Given the description of an element on the screen output the (x, y) to click on. 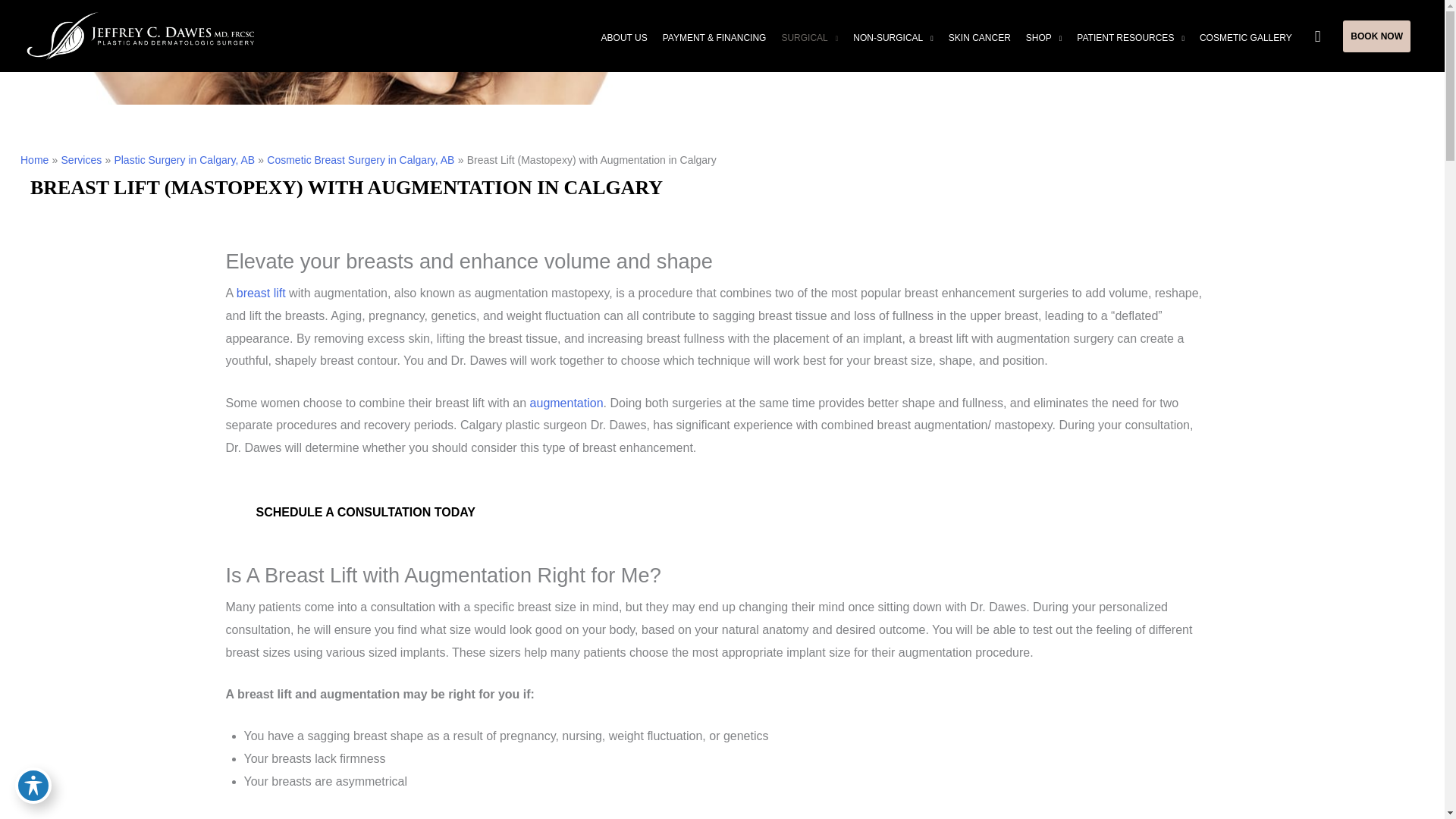
SURGICAL (809, 37)
NON-SURGICAL (892, 37)
Click Here (365, 512)
ABOUT US (624, 37)
